Given the description of an element on the screen output the (x, y) to click on. 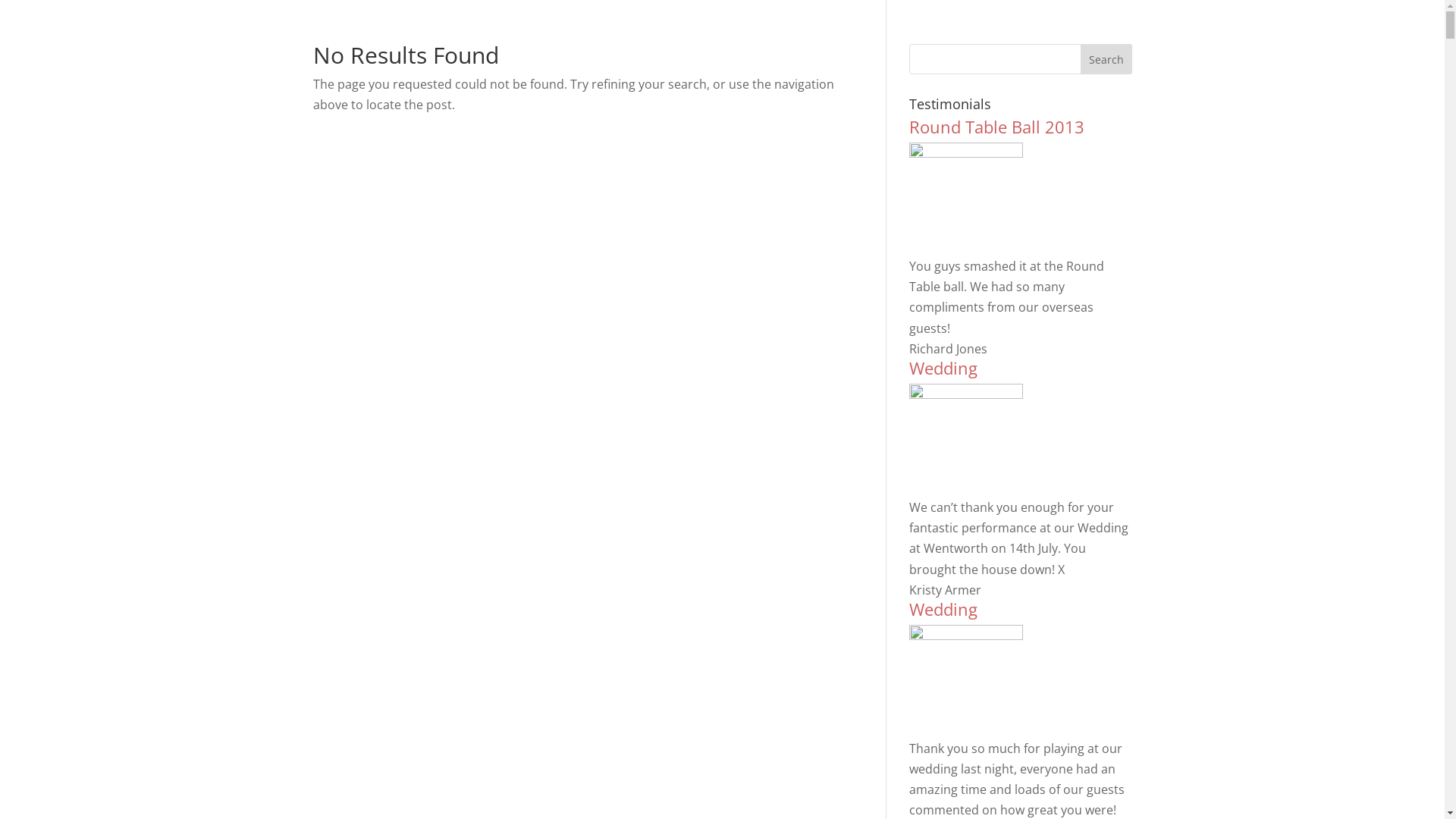
News Element type: text (1017, 42)
Round Table Ball 2013 Element type: text (995, 126)
Wedding Element type: text (942, 608)
Home Element type: text (745, 42)
Contact Element type: text (1077, 42)
Testimonials Element type: text (941, 42)
Search Element type: text (1106, 58)
Gallery Element type: text (861, 42)
Wedding Element type: text (942, 367)
About Element type: text (800, 42)
